Given the description of an element on the screen output the (x, y) to click on. 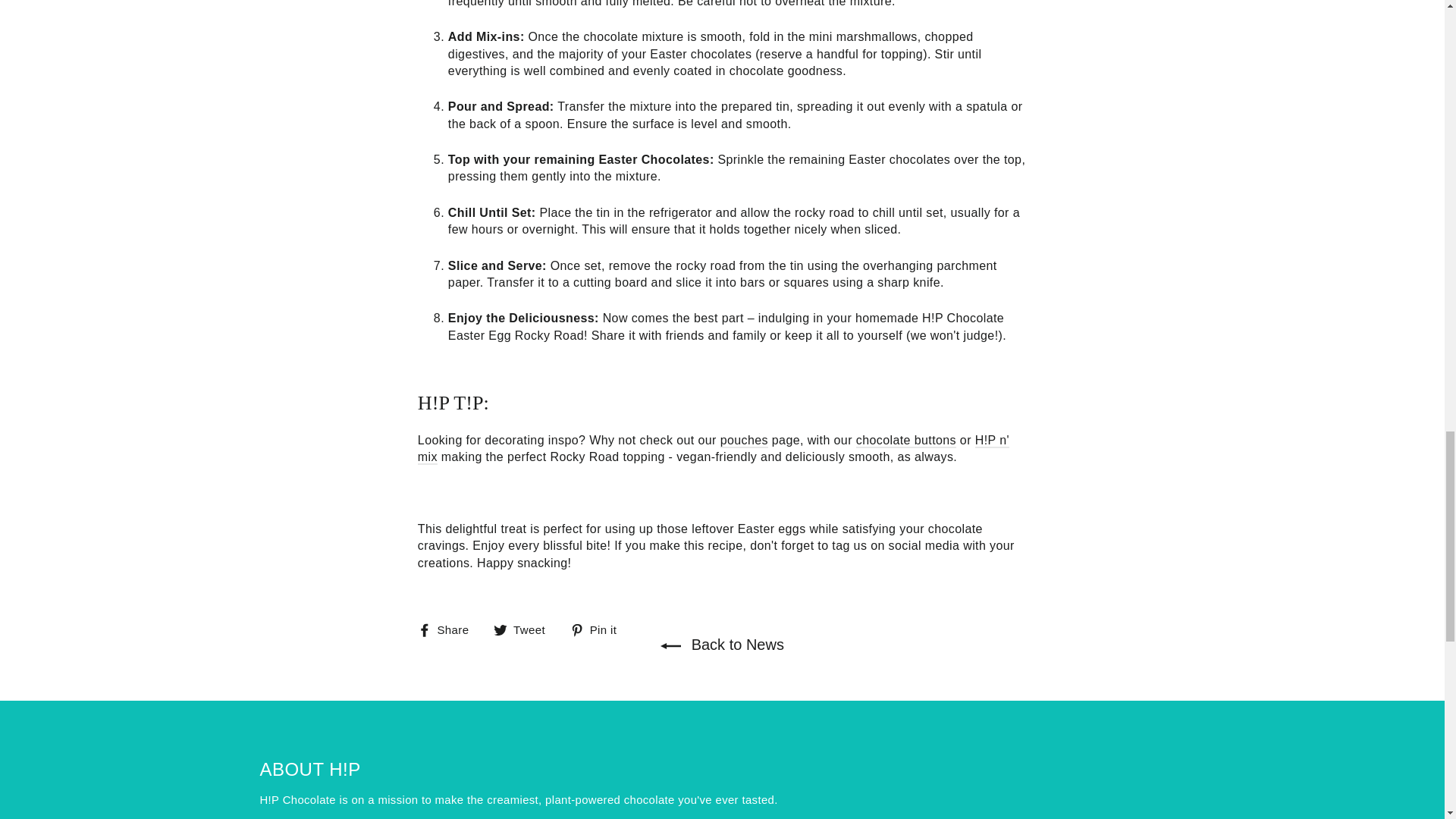
Share on Facebook (448, 629)
Pin on Pinterest (598, 629)
Tweet on Twitter (524, 629)
